Given the description of an element on the screen output the (x, y) to click on. 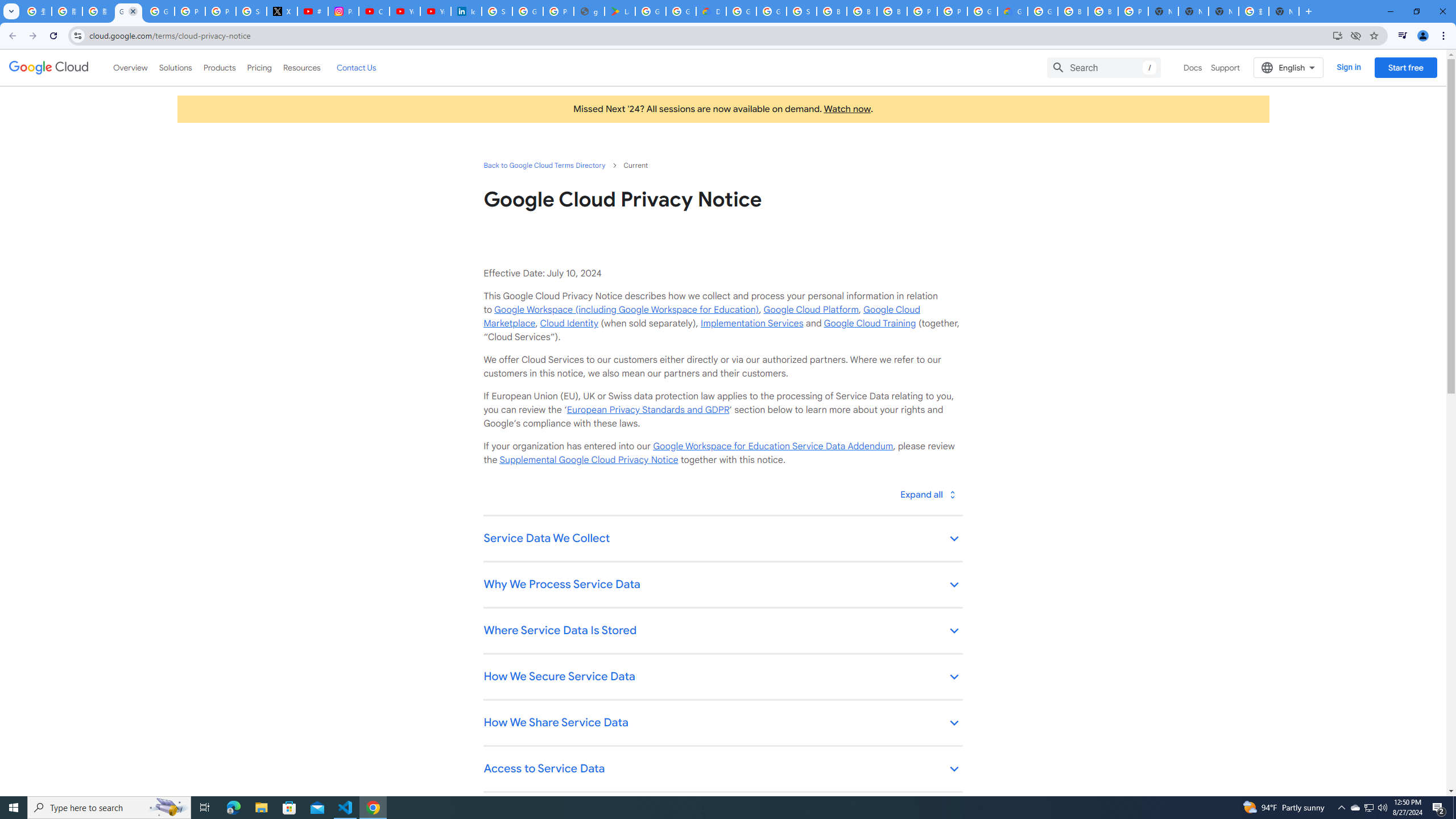
Supplemental Google Cloud Privacy Notice (588, 460)
Google Cloud (48, 67)
Google Cloud Marketplace (701, 316)
Google Workspace for Education Service Data Addendum (772, 446)
Google Cloud Privacy Notice (127, 11)
How We Secure Service Data keyboard_arrow_down (722, 677)
Google Cloud Training (869, 323)
Cloud Identity (569, 323)
